Given the description of an element on the screen output the (x, y) to click on. 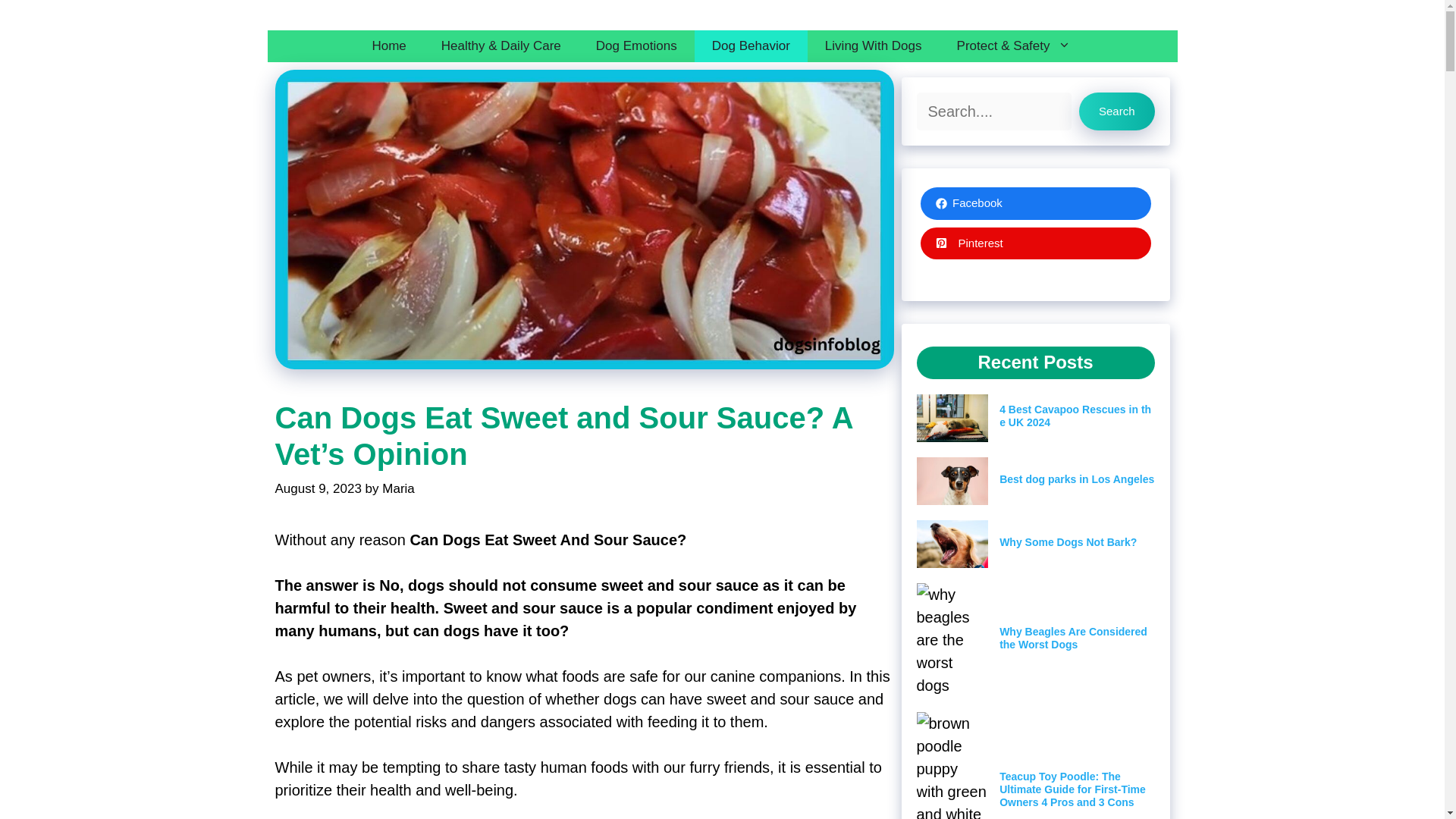
Facebook (1035, 203)
Home (388, 46)
Search (1116, 111)
Why Some Dogs Not Bark? (1067, 541)
Maria (397, 488)
Best dog parks in Los Angeles (1076, 479)
View all posts by Maria (397, 488)
Pinterest (1035, 243)
Dog Emotions (636, 46)
